Given the description of an element on the screen output the (x, y) to click on. 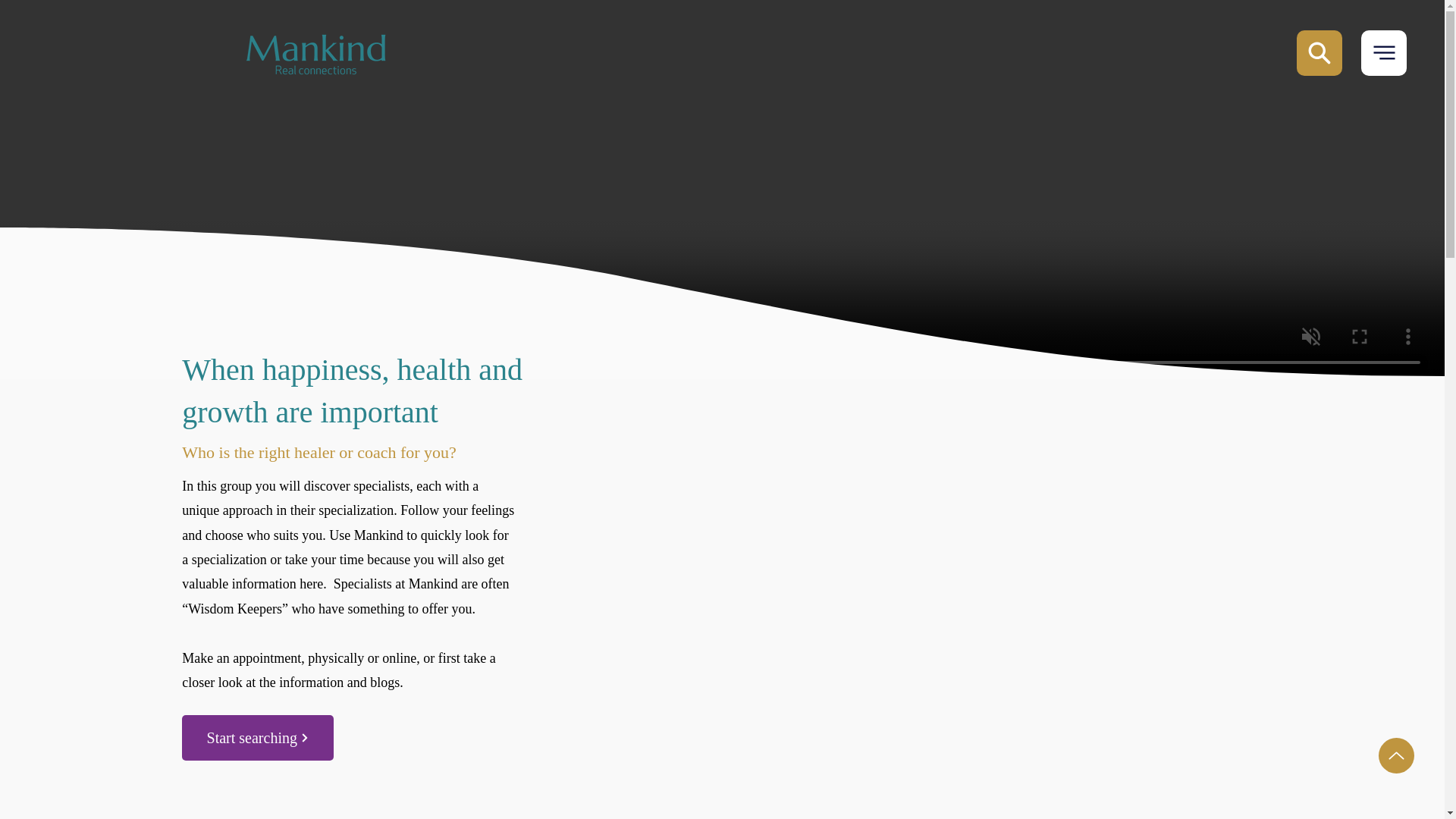
Start searching (257, 737)
